Given the description of an element on the screen output the (x, y) to click on. 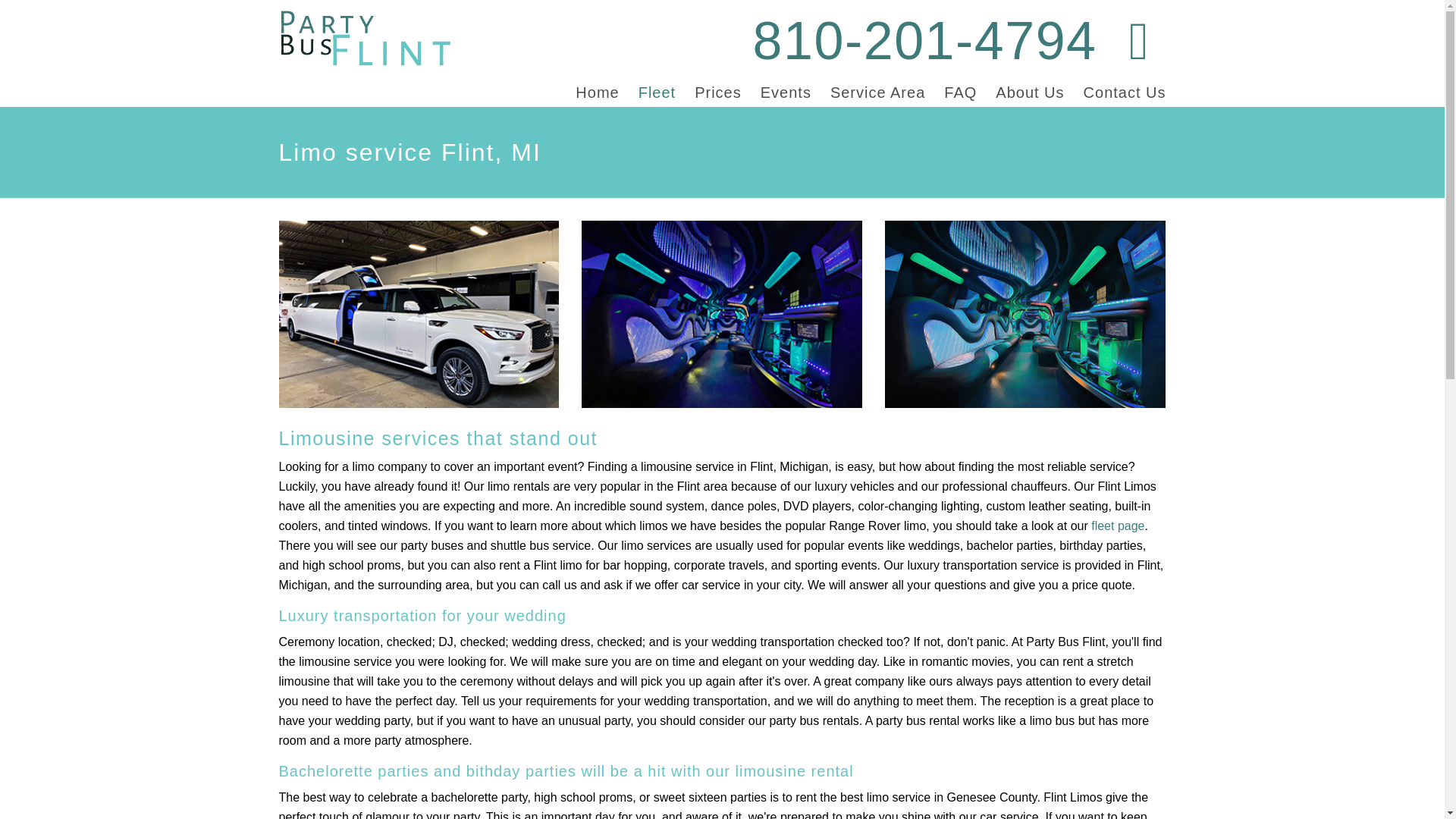
Fleet (657, 92)
Service Area (876, 92)
fleet page (1117, 525)
Contact Us (1124, 92)
Home (596, 92)
Events (785, 92)
810-201-4794 (924, 40)
About Us (1029, 92)
FAQ (959, 92)
Prices (717, 92)
